Given the description of an element on the screen output the (x, y) to click on. 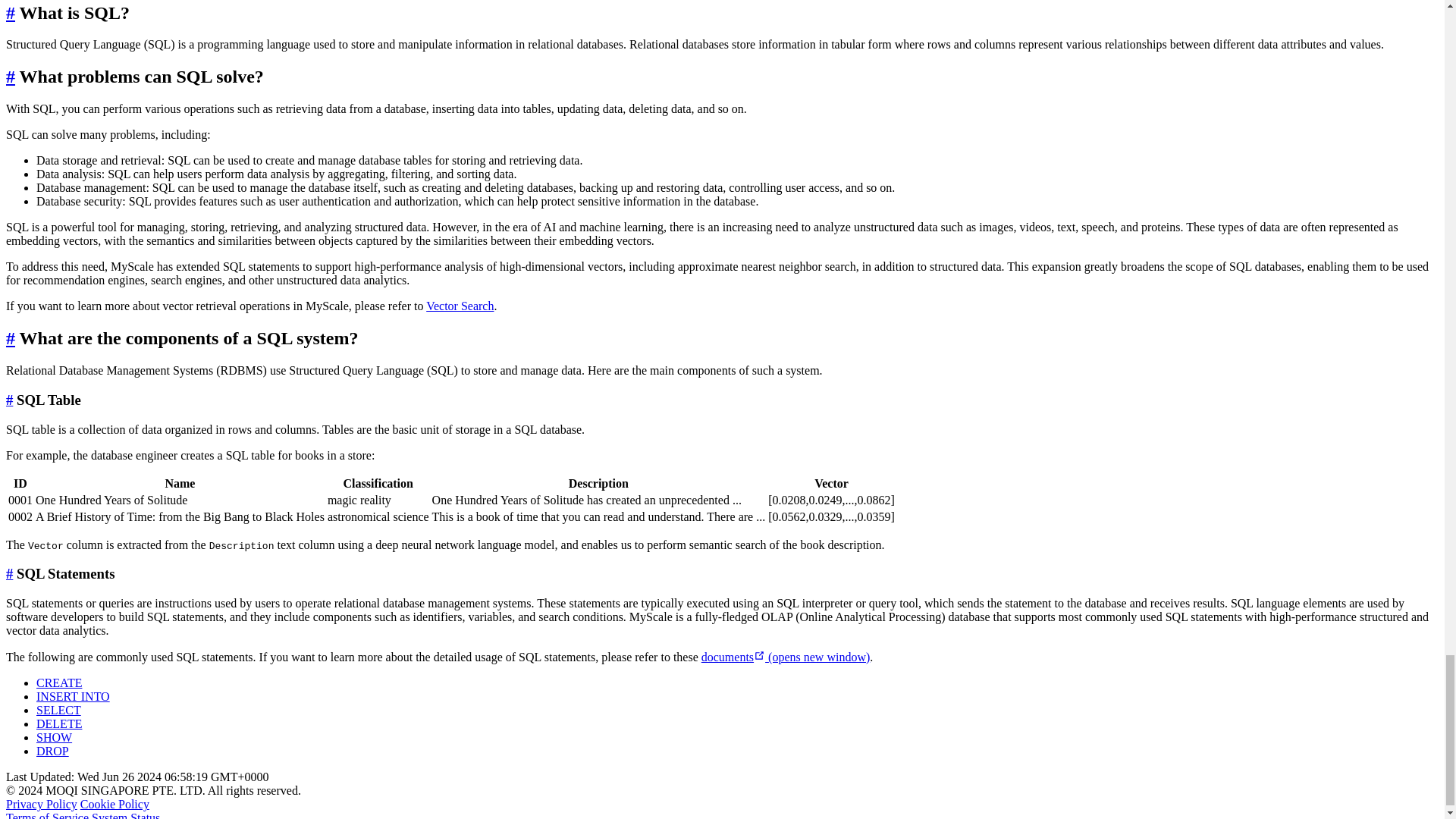
SELECT (58, 709)
CREATE (58, 682)
SHOW (53, 737)
Cookie Policy (114, 803)
DELETE (58, 723)
Vector Search (459, 305)
DROP (52, 750)
Privacy Policy (41, 803)
INSERT INTO (73, 696)
